Given the description of an element on the screen output the (x, y) to click on. 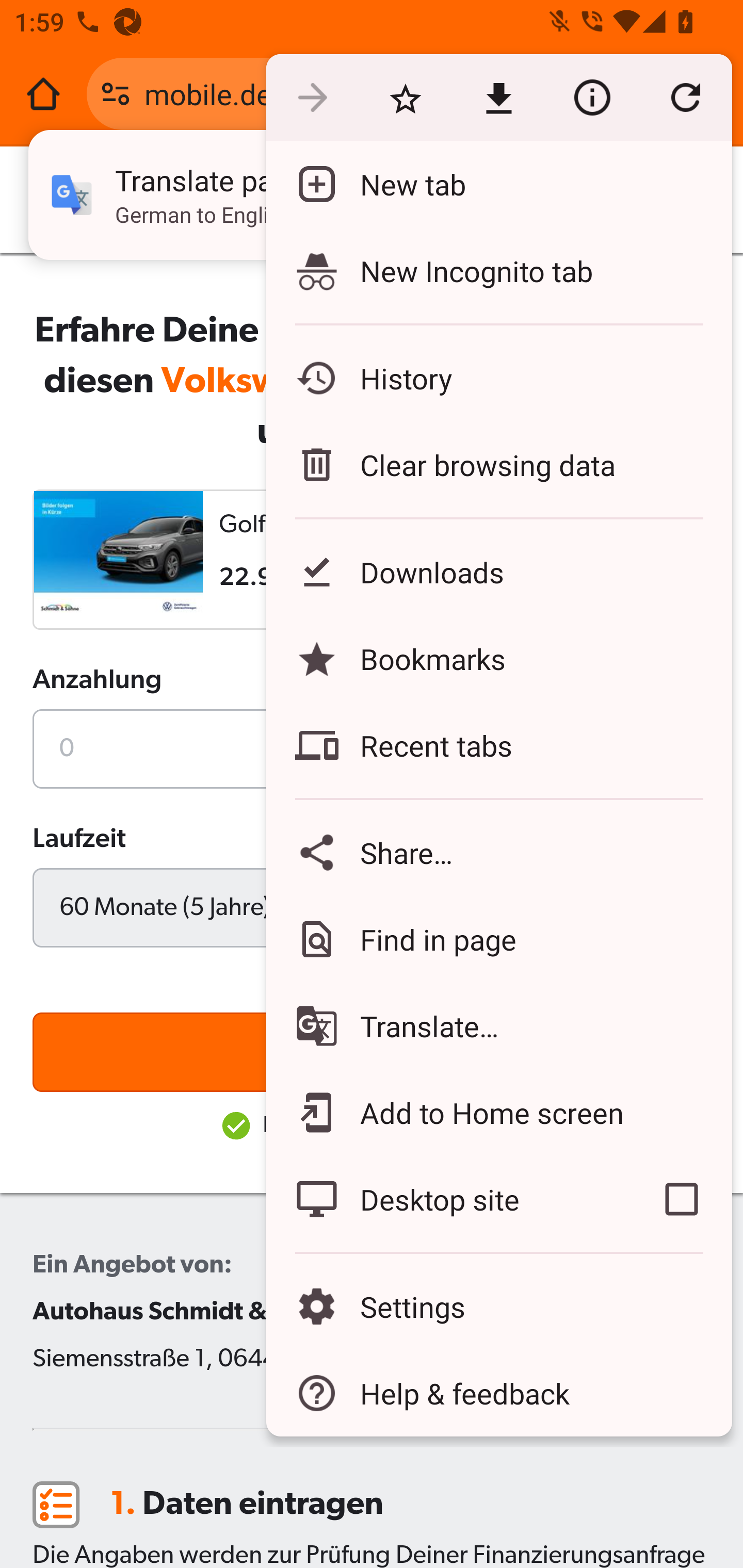
Forward (311, 97)
Bookmark (404, 97)
Download (498, 97)
Page info (591, 97)
Refresh (684, 97)
New tab (498, 184)
New Incognito tab (498, 270)
History (498, 377)
Clear browsing data (498, 464)
Downloads (498, 571)
Bookmarks (498, 658)
Recent tabs (498, 745)
Share… (498, 852)
Find in page (498, 939)
Translate… (498, 1026)
Add to Home screen (498, 1112)
Desktop site Turn on Request desktop site (447, 1198)
Settings (498, 1306)
Help & feedback (498, 1393)
